Given the description of an element on the screen output the (x, y) to click on. 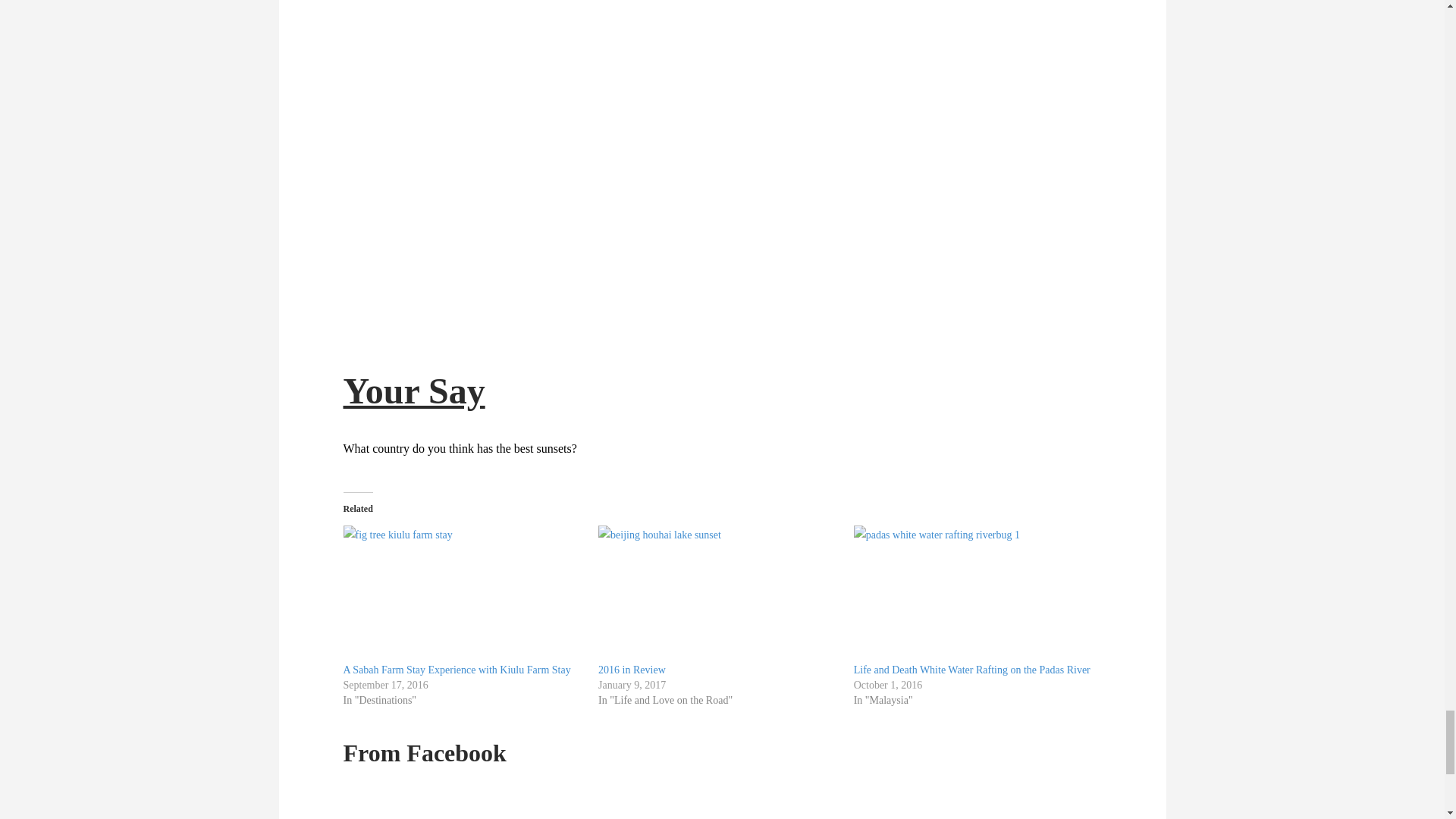
A Sabah Farm Stay Experience with Kiulu Farm Stay (462, 593)
Life and Death White Water Rafting on the Padas River (971, 669)
Life and Death White Water Rafting on the Padas River (973, 593)
2016 in Review (631, 669)
2016 in Review (718, 593)
A Sabah Farm Stay Experience with Kiulu Farm Stay (456, 669)
